Given the description of an element on the screen output the (x, y) to click on. 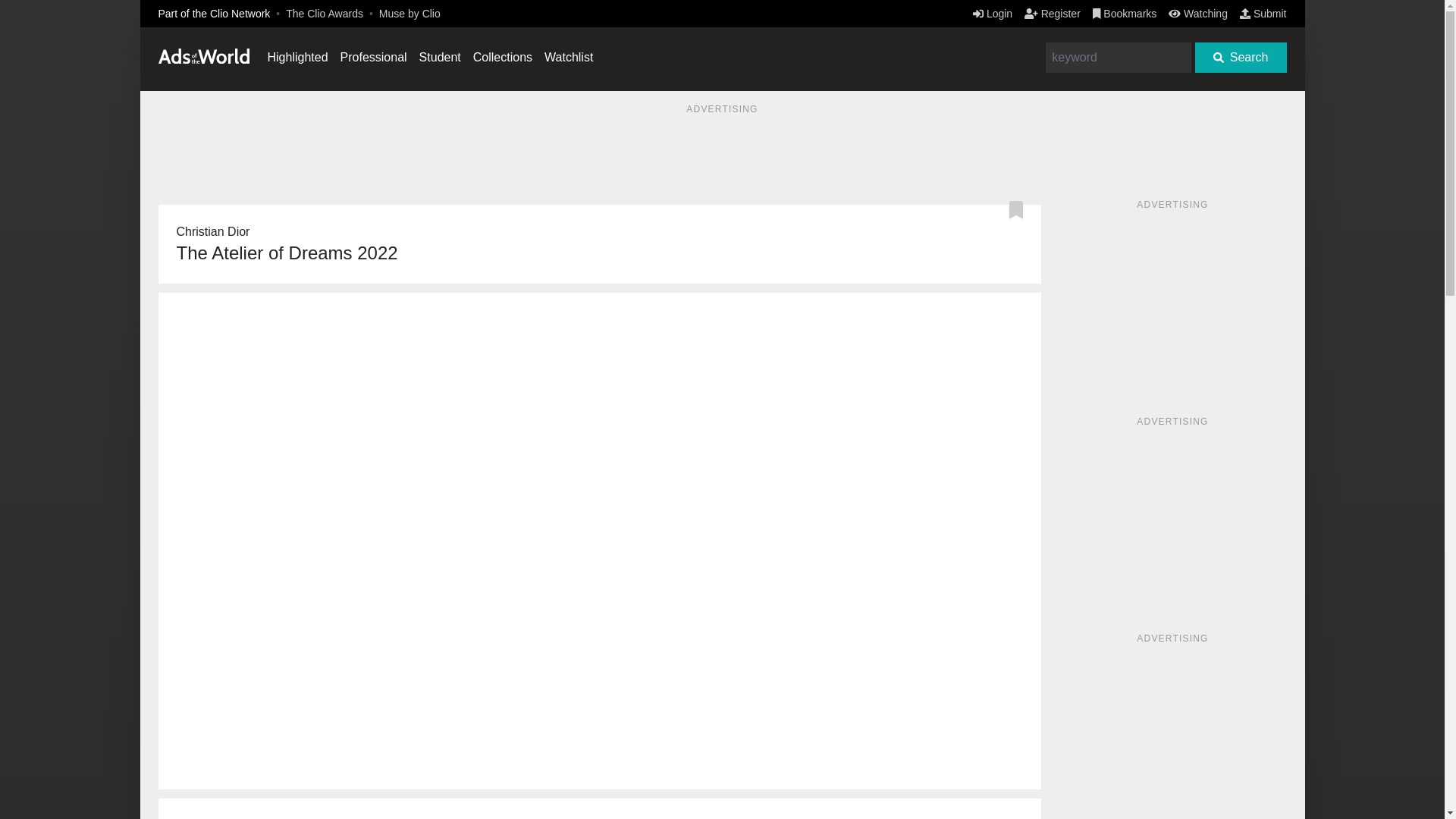
Submit (1263, 13)
The Clio Awards (323, 13)
Student (440, 56)
Professional (373, 56)
Search (1241, 57)
Bookmarks (1125, 13)
Watching (1198, 13)
Register (1052, 13)
Bookmarks (1125, 13)
Highlighted (296, 56)
